Given the description of an element on the screen output the (x, y) to click on. 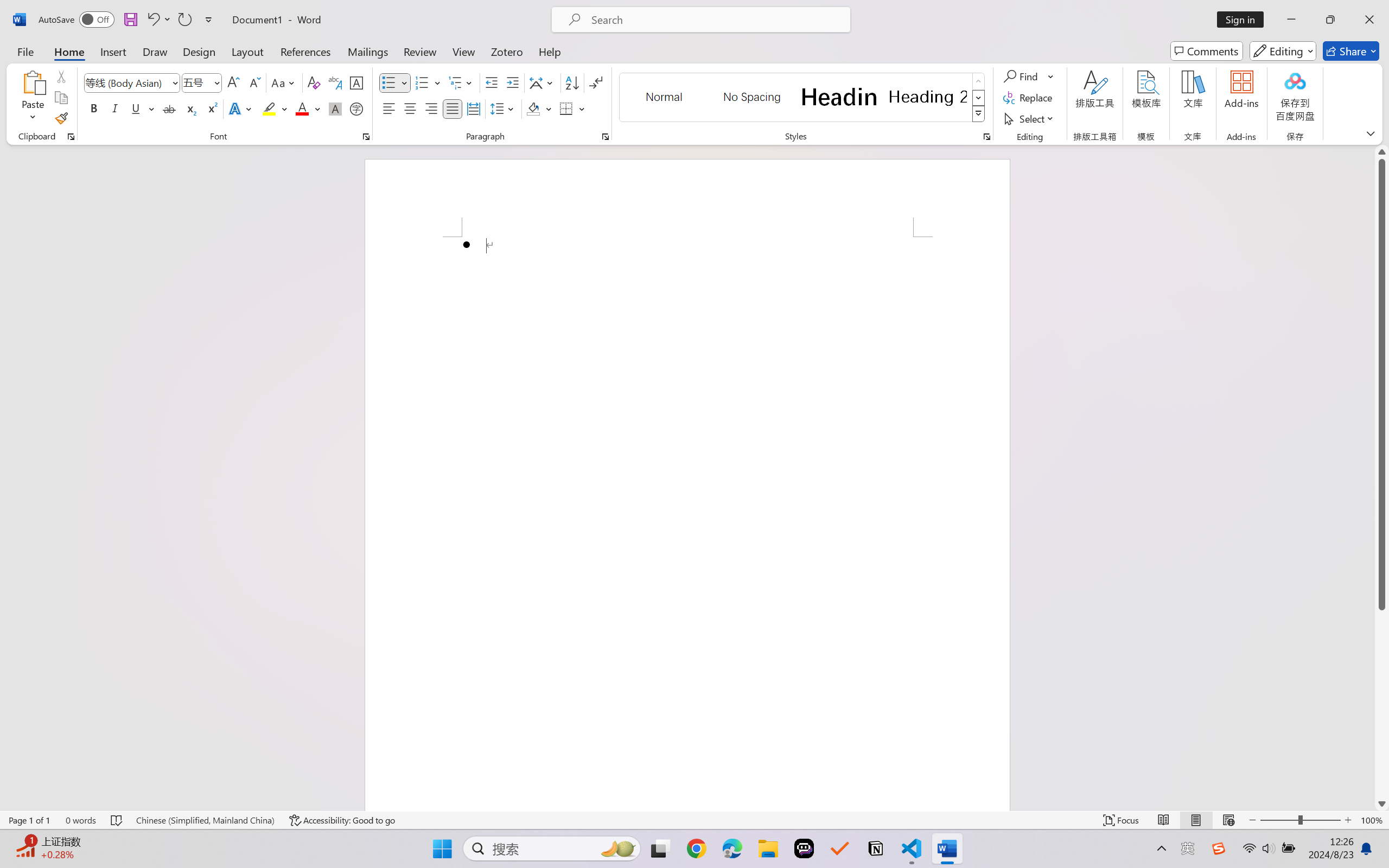
Zoom 100% (1372, 819)
Line down (1382, 803)
